Given the description of an element on the screen output the (x, y) to click on. 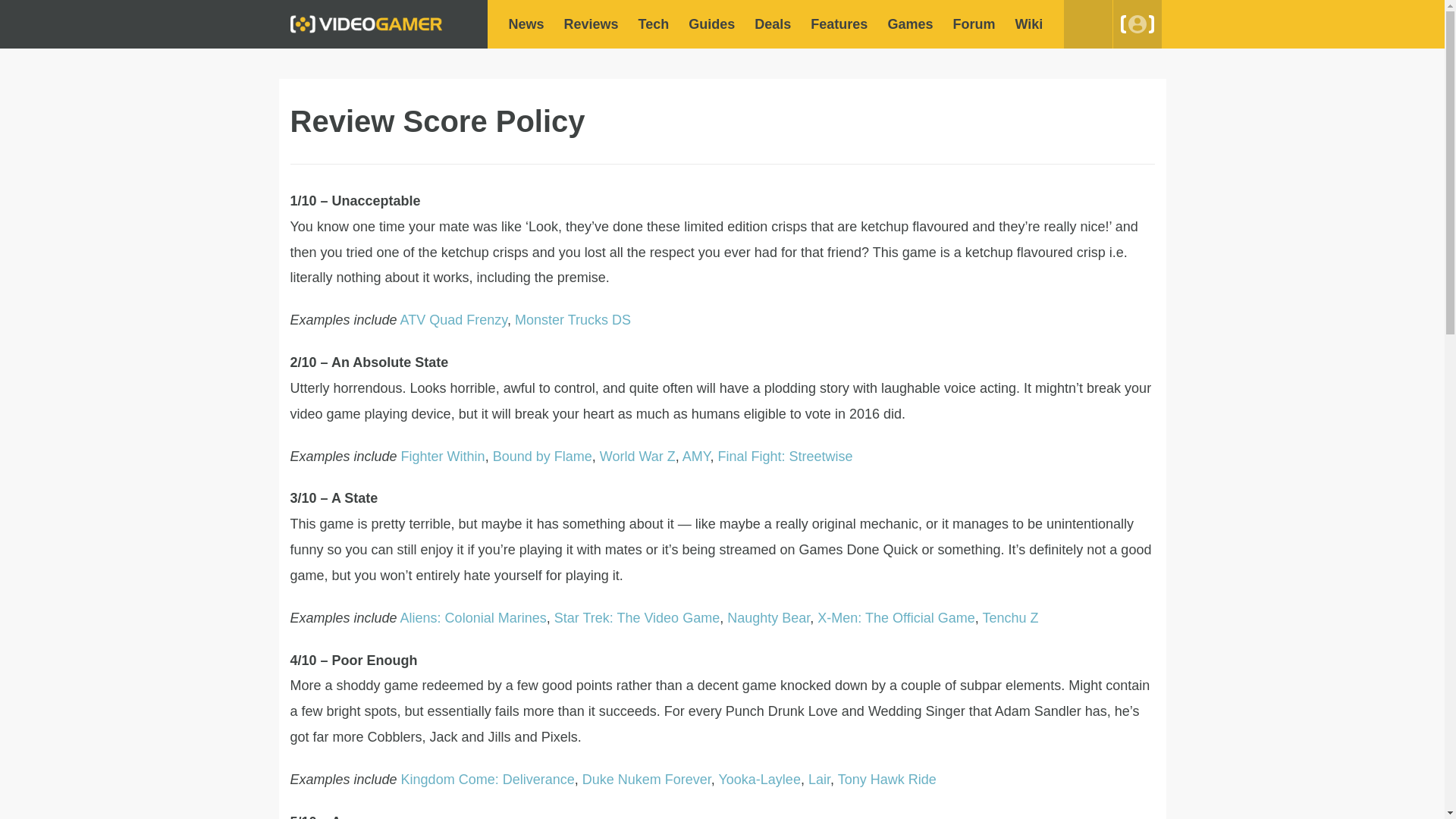
Monster Trucks DS (572, 319)
Star Trek: The Video Game (636, 617)
Reviews (591, 24)
Bound by Flame (542, 456)
Features (838, 24)
Guides (711, 24)
Forum (973, 24)
Reviews (591, 24)
Fighter Within (442, 456)
Tech (653, 24)
